Given the description of an element on the screen output the (x, y) to click on. 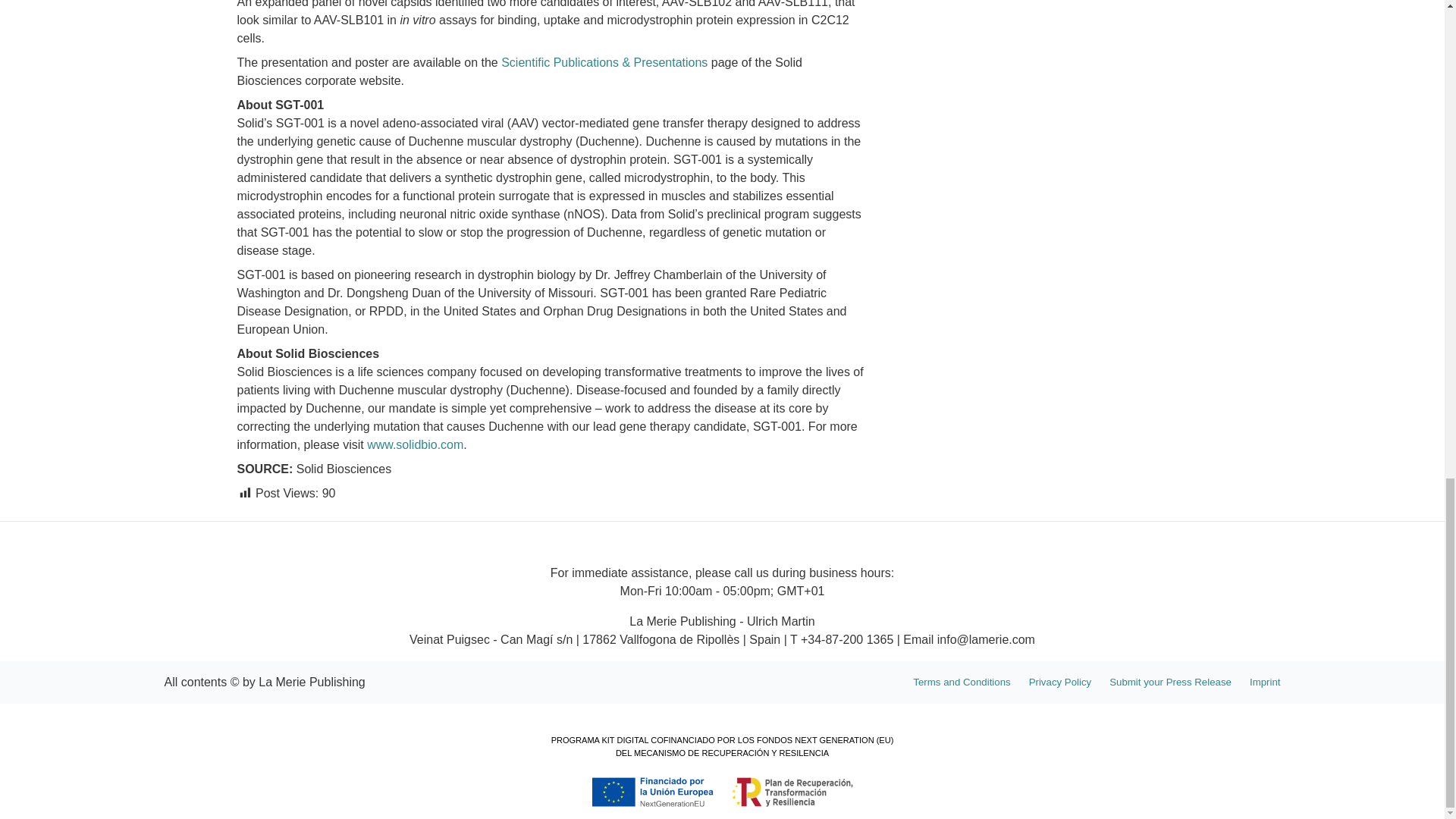
www.solidbio.com (414, 444)
